Given the description of an element on the screen output the (x, y) to click on. 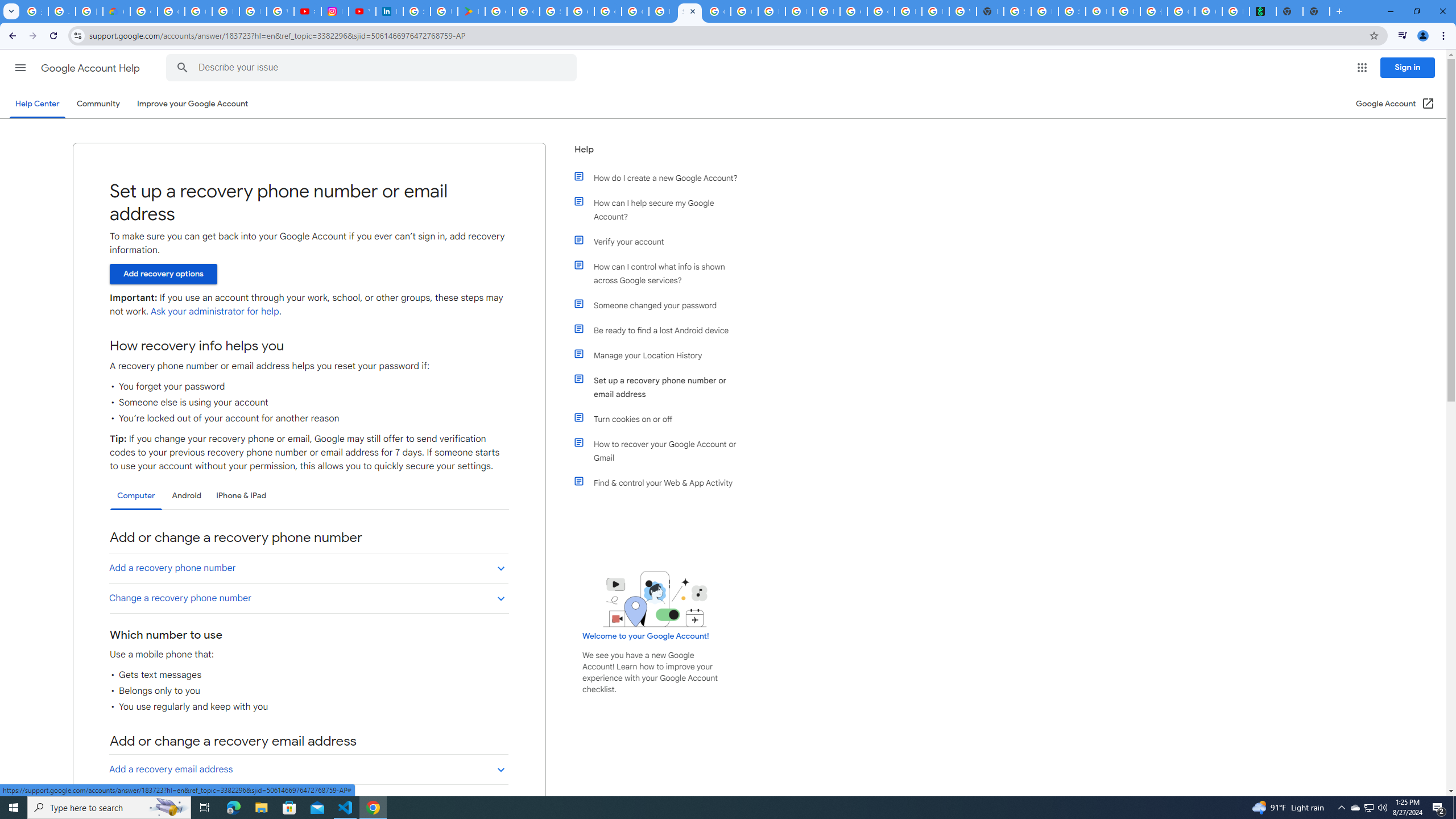
How do I create a new Google Account? - Google Account Help (662, 11)
Ask your administrator for help (214, 311)
Computer (136, 496)
How can I control what info is shown across Google services? (661, 273)
Find & control your Web & App Activity (661, 482)
Someone changed your password (661, 305)
